Given the description of an element on the screen output the (x, y) to click on. 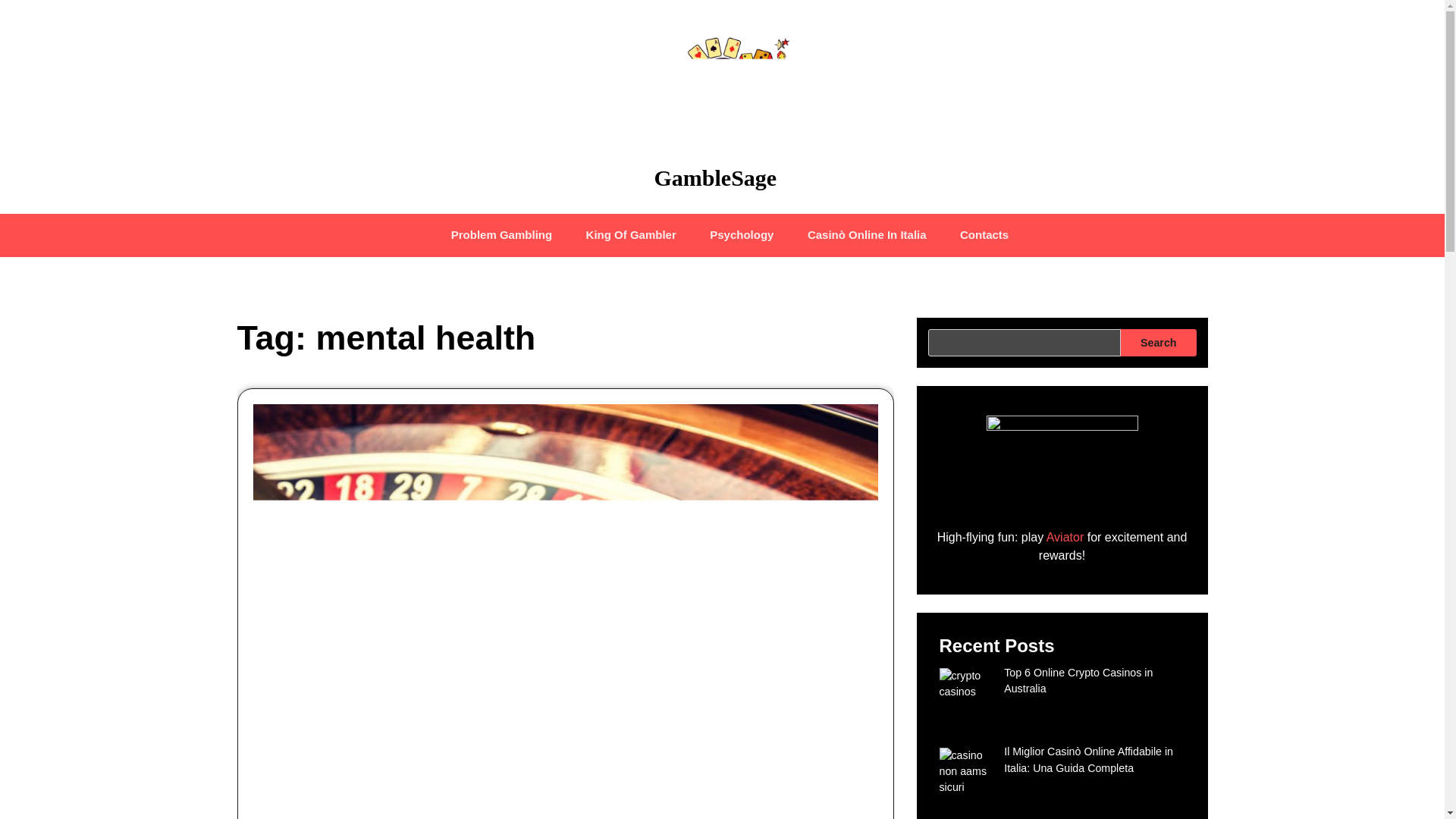
Contacts (983, 235)
Search (1158, 342)
Top 6 Online Crypto Casinos in Australia (1078, 680)
GambleSage (714, 177)
Aviator (1065, 536)
King Of Gambler (630, 235)
Psychology (741, 235)
Problem Gambling (501, 235)
